Given the description of an element on the screen output the (x, y) to click on. 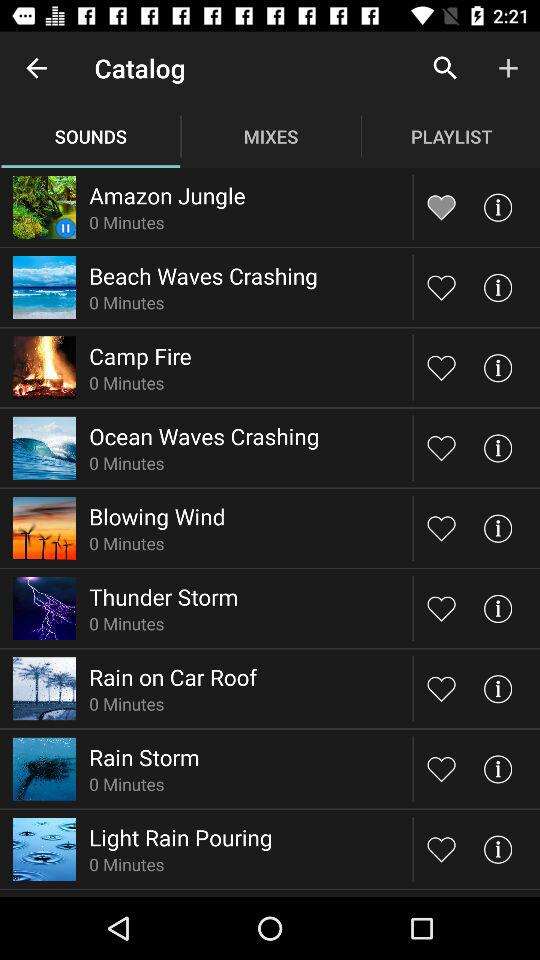
launch the icon above playlist (444, 67)
